Given the description of an element on the screen output the (x, y) to click on. 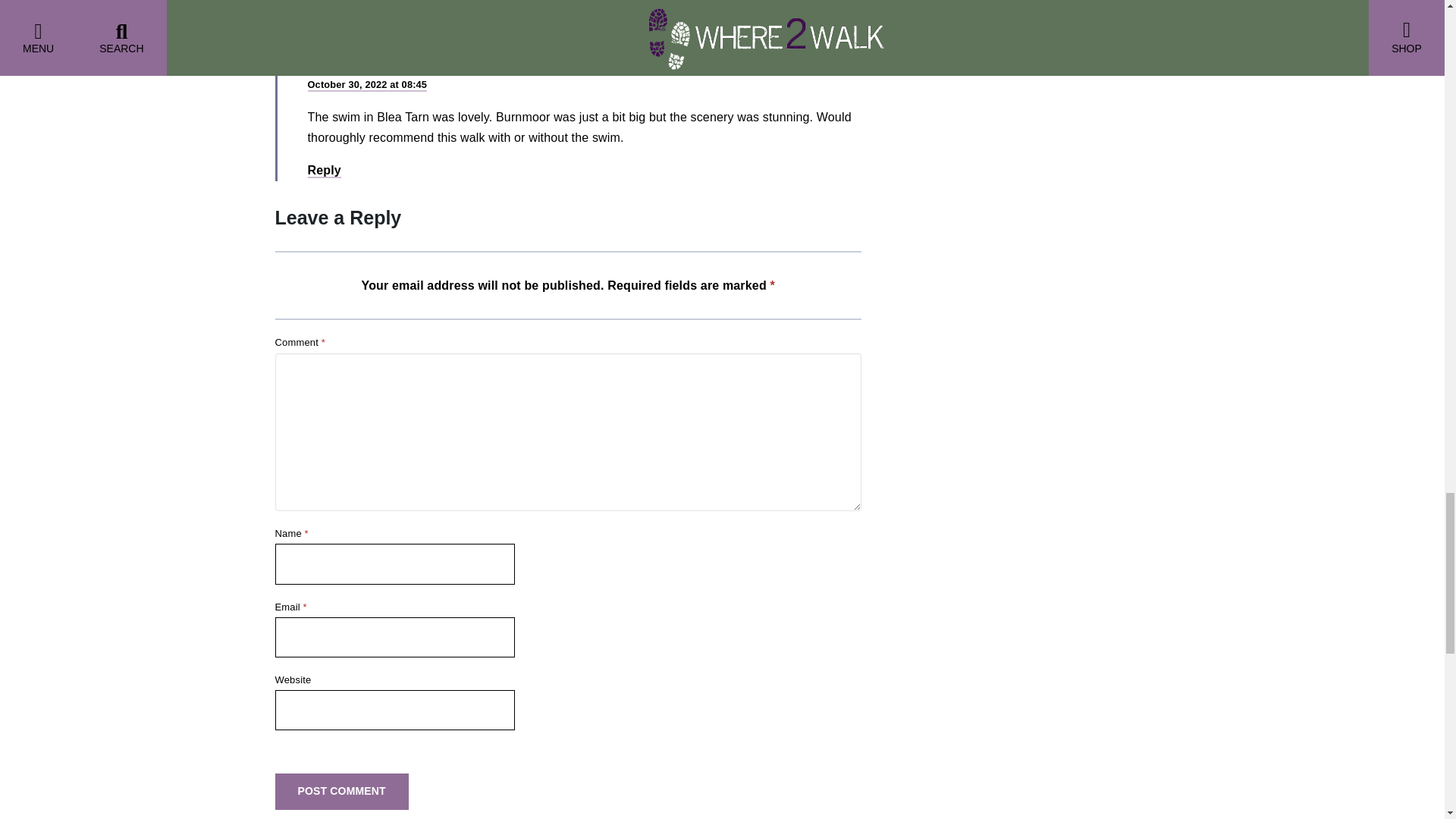
Post Comment (341, 791)
Post Comment (341, 791)
Reply (323, 170)
October 30, 2022 at 08:45 (367, 84)
